Given the description of an element on the screen output the (x, y) to click on. 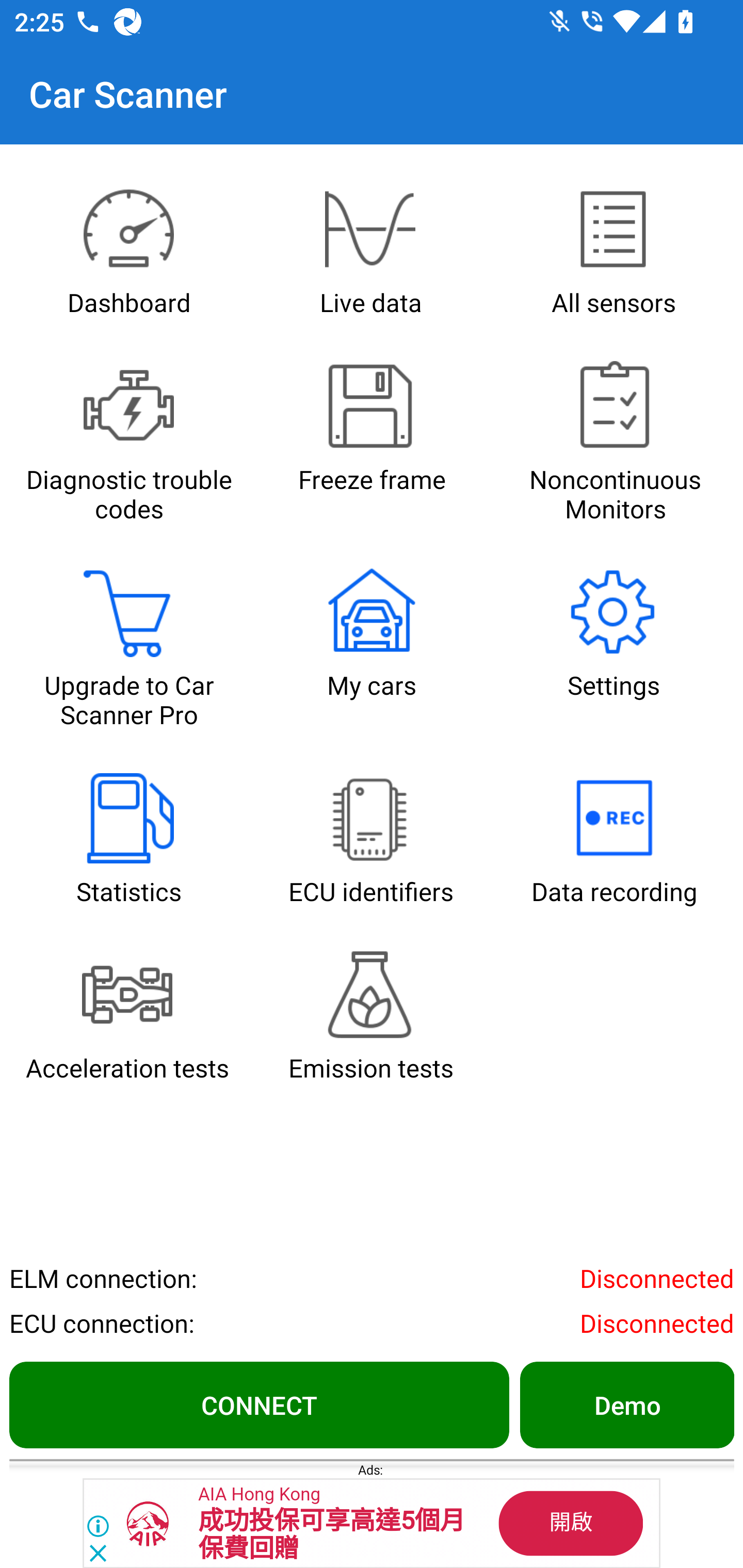
CONNECT (258, 1404)
Demo (627, 1404)
